Given the description of an element on the screen output the (x, y) to click on. 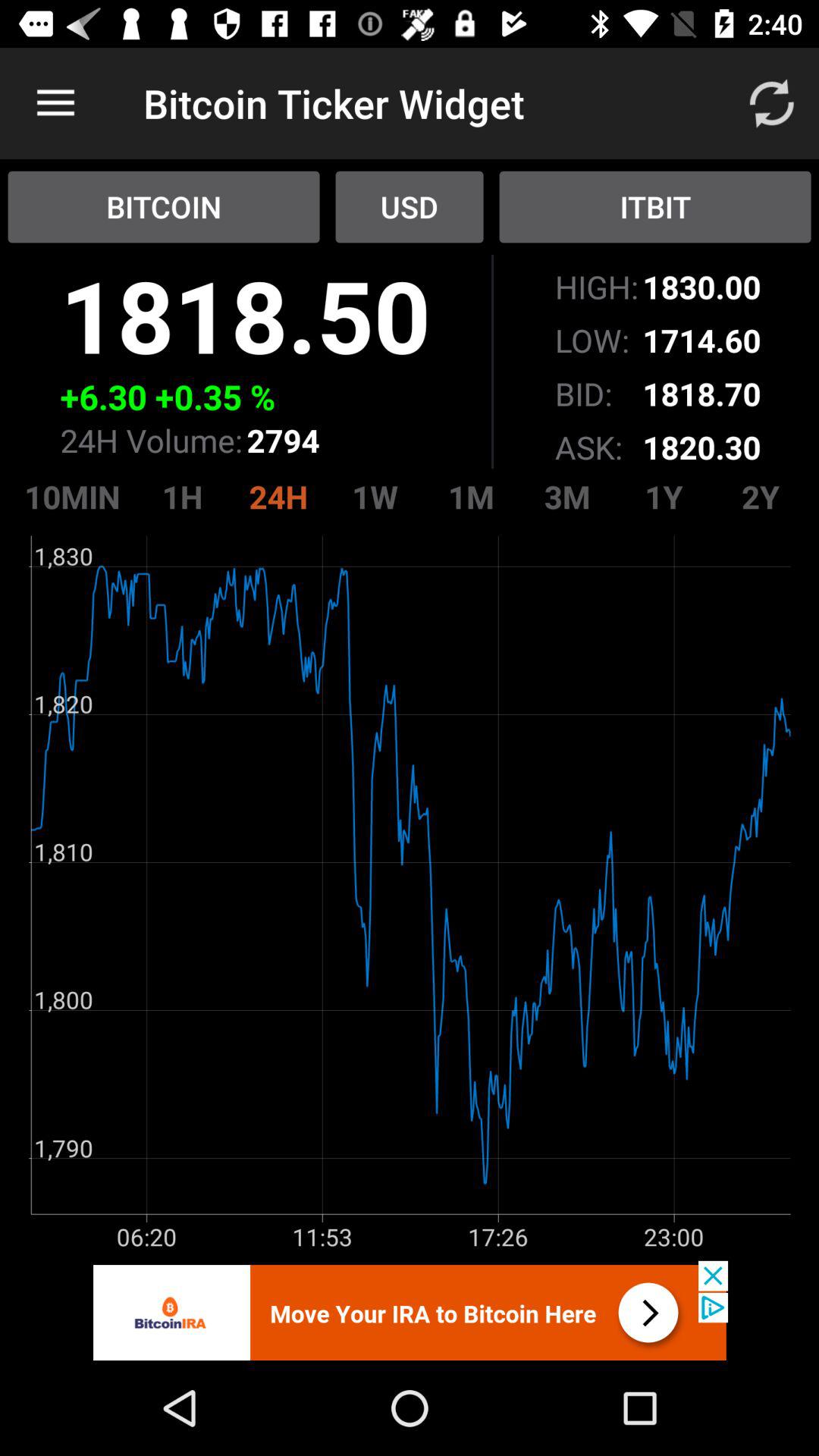
advertisement page (409, 1310)
